Given the description of an element on the screen output the (x, y) to click on. 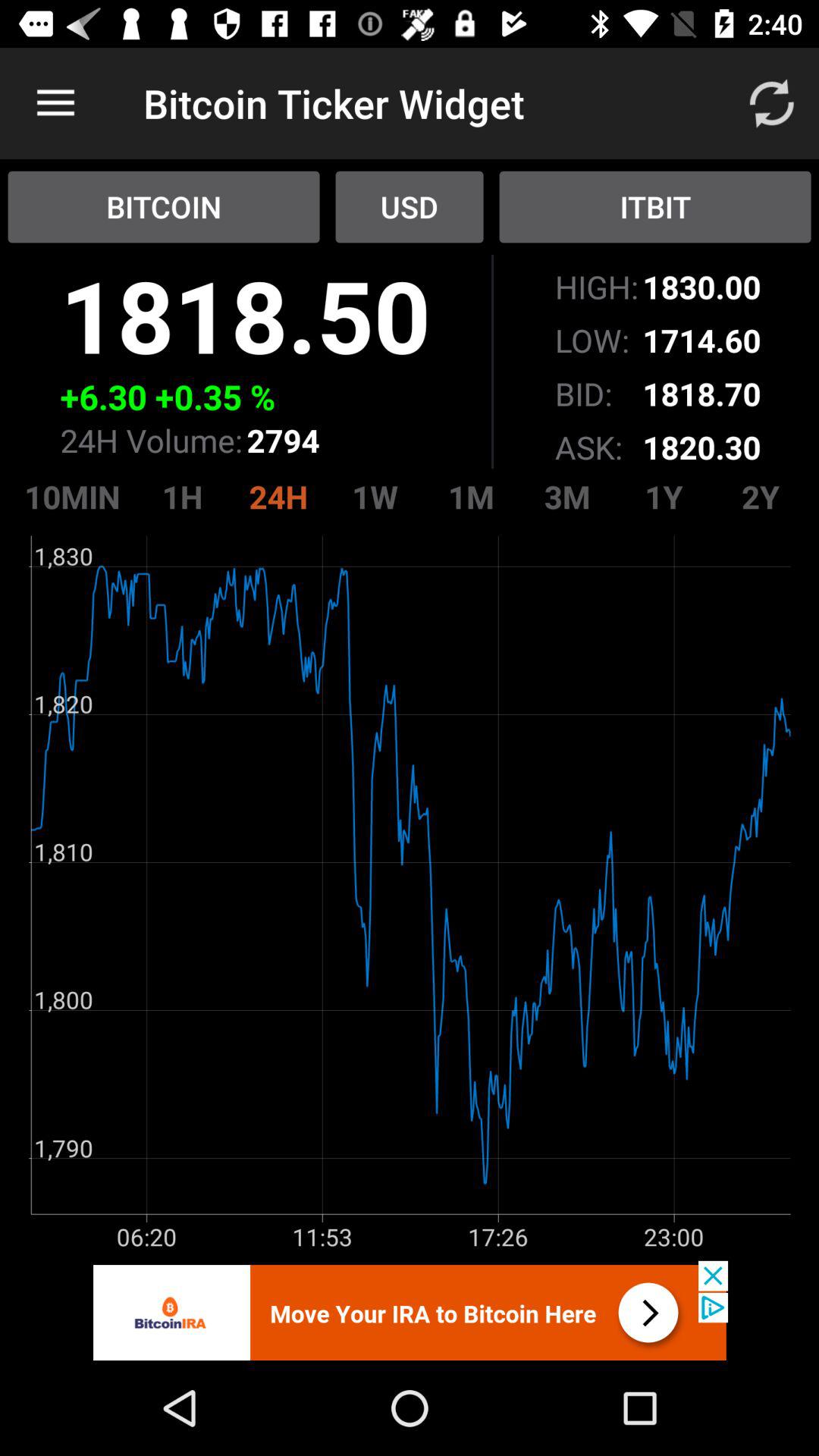
advertisement page (409, 1310)
